Given the description of an element on the screen output the (x, y) to click on. 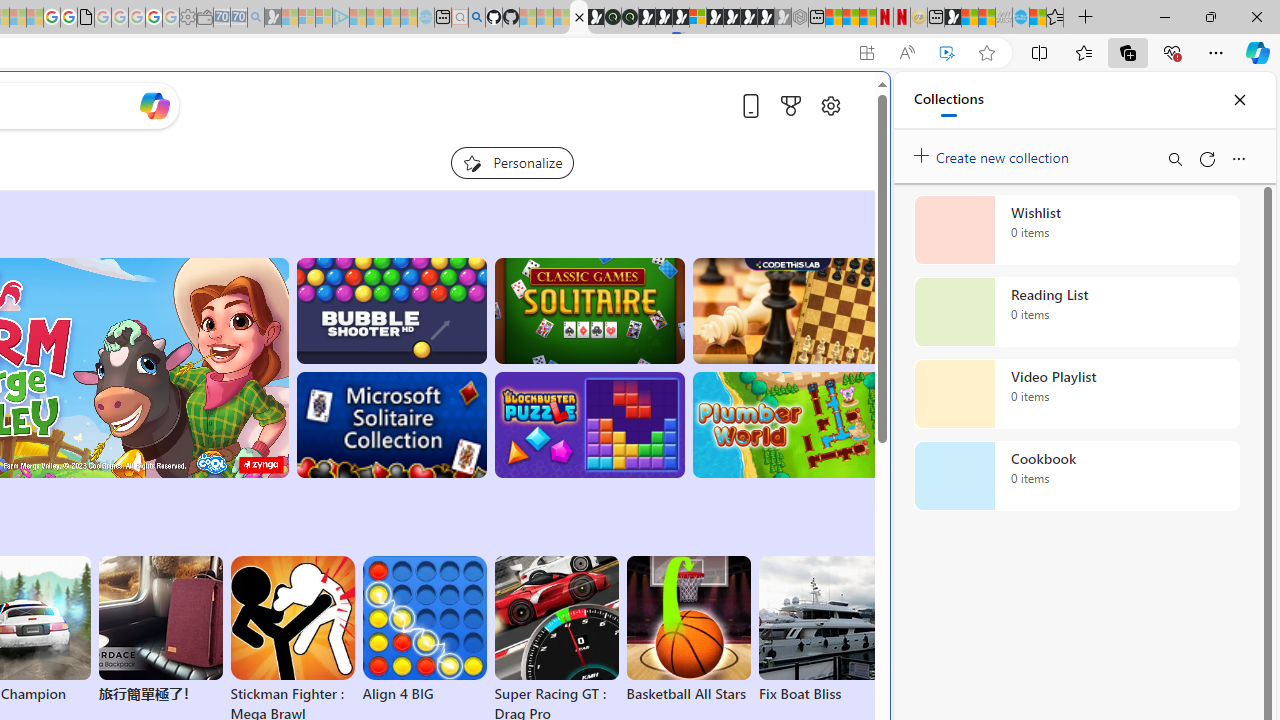
Services - Maintenance | Sky Blue Bikes - Sky Blue Bikes (1020, 17)
github - Search (476, 17)
More options menu (1238, 158)
Reading List collection, 0 items (1076, 312)
